Given the description of an element on the screen output the (x, y) to click on. 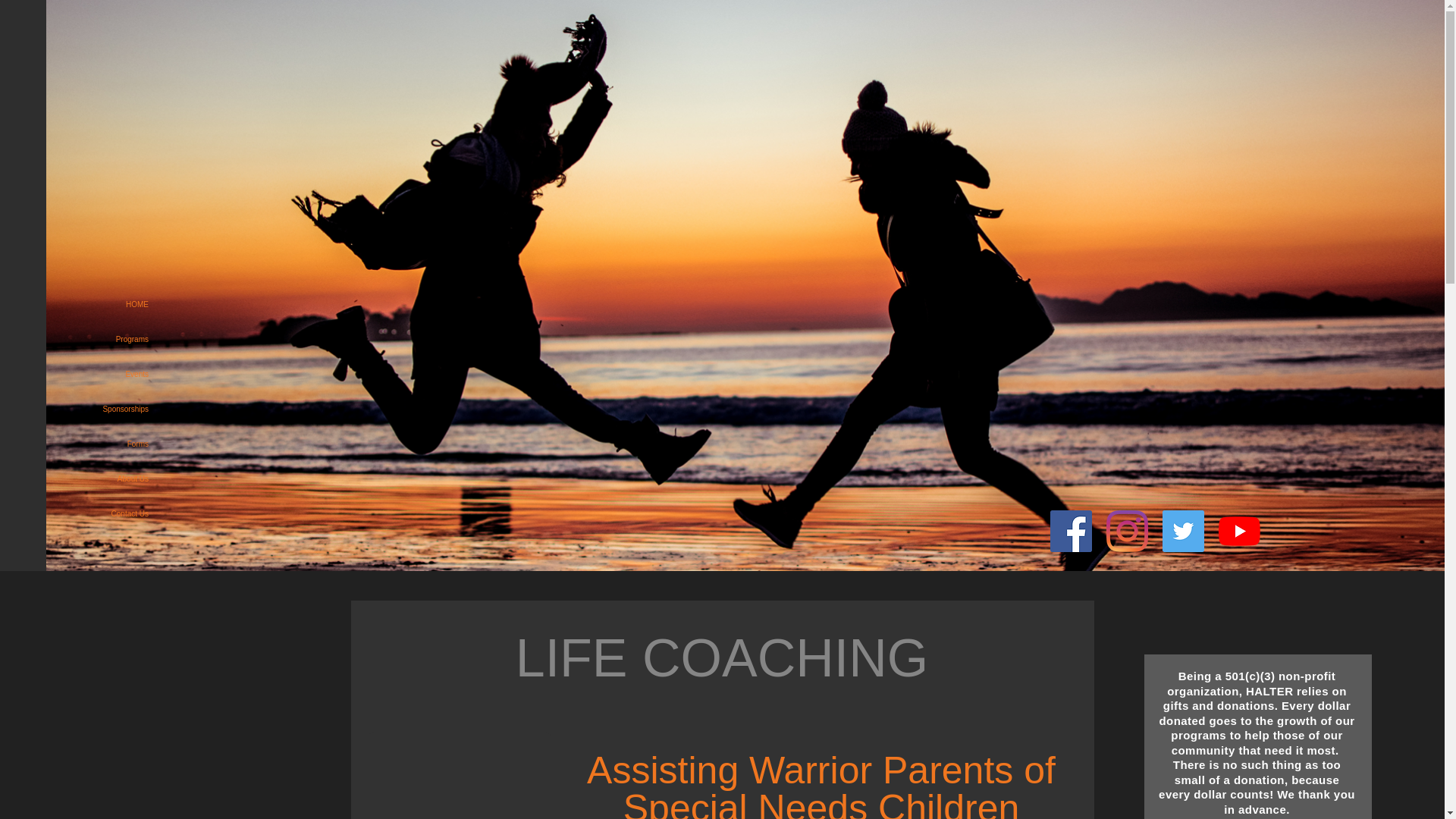
Contact Us (83, 513)
Forms (83, 443)
About Us (83, 478)
HOME (83, 304)
